Given the description of an element on the screen output the (x, y) to click on. 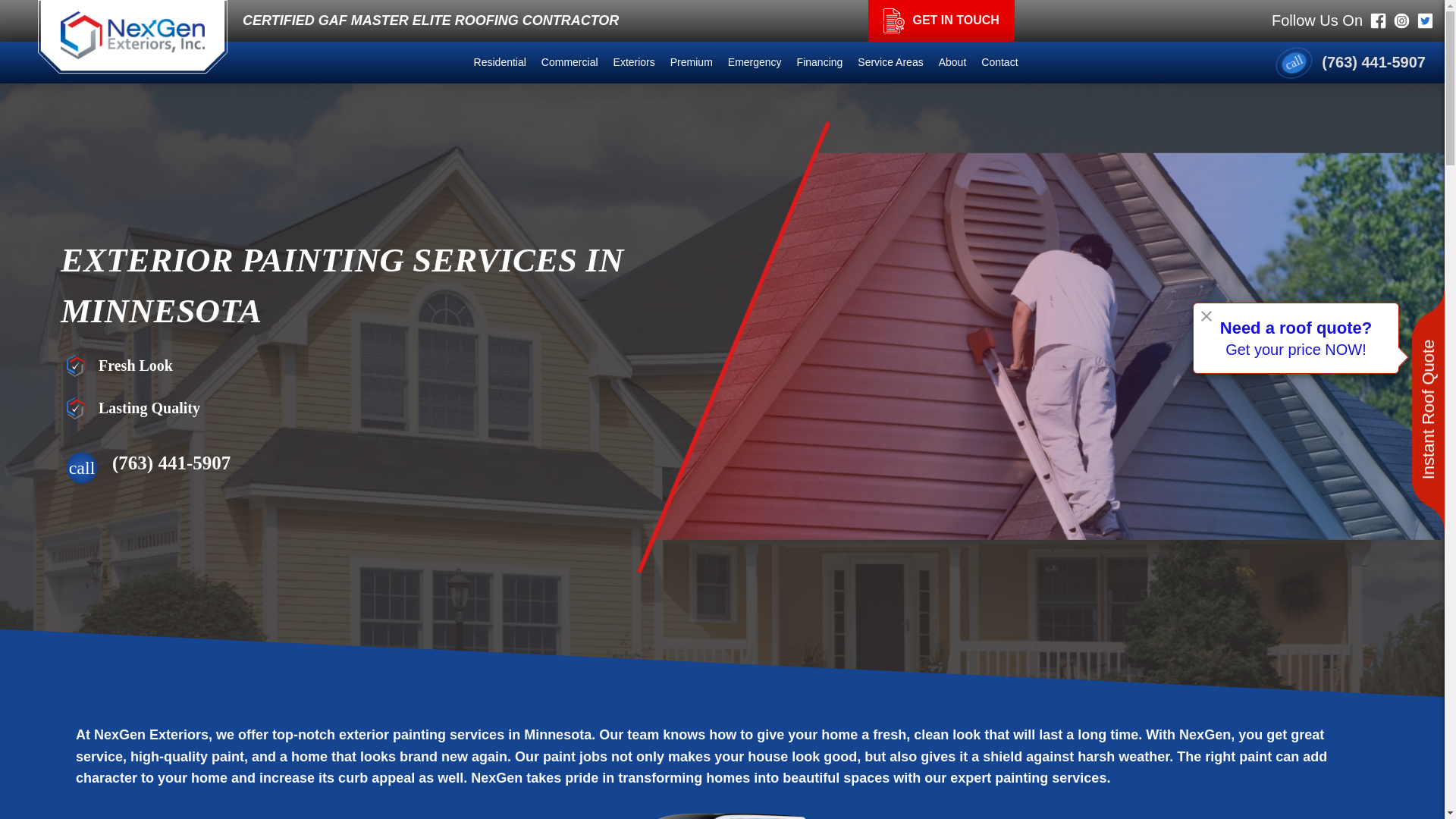
GET IN TOUCH (940, 20)
Submit (721, 535)
Residential (499, 62)
Exteriors (633, 62)
Commercial (569, 62)
